Given the description of an element on the screen output the (x, y) to click on. 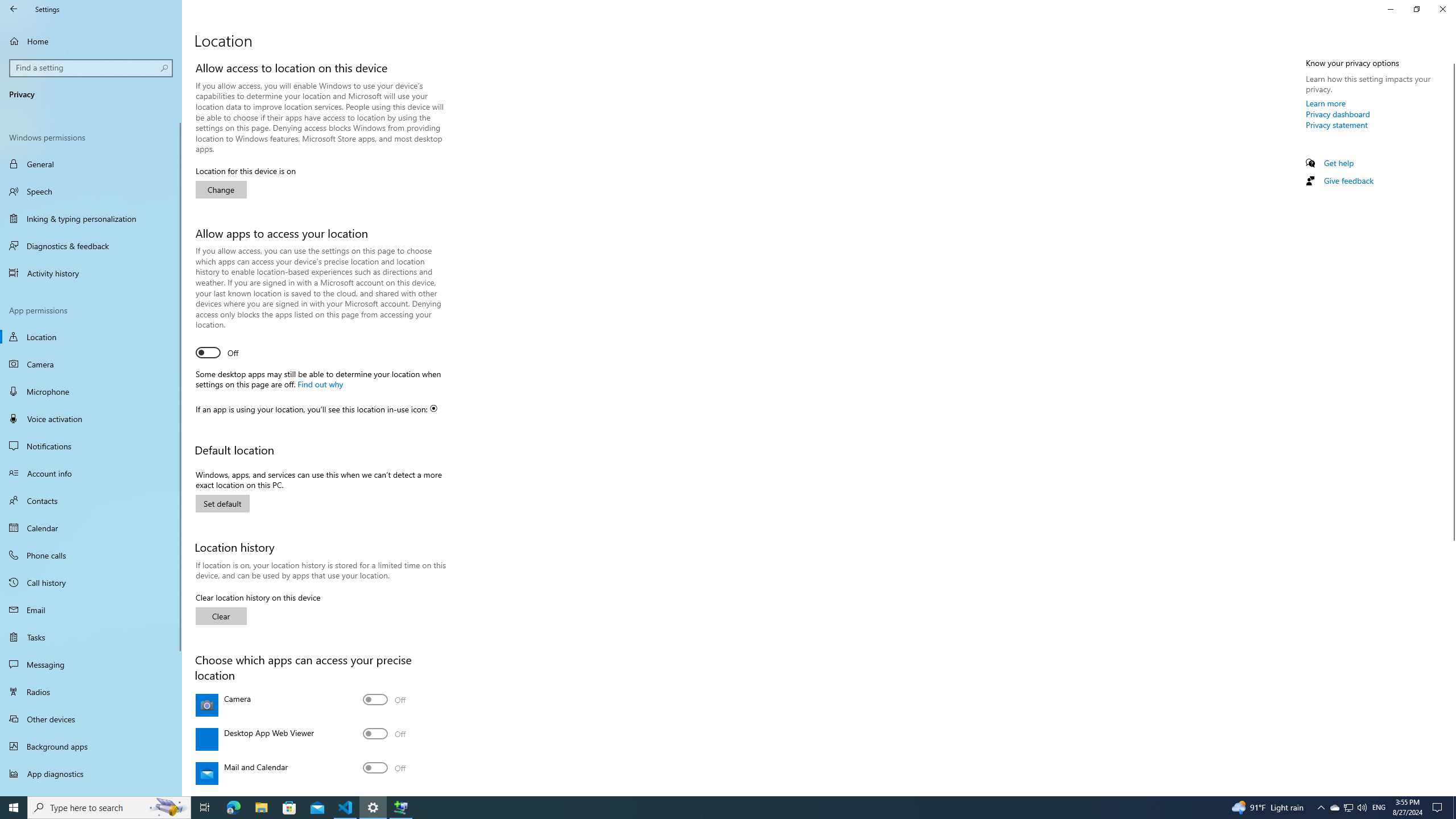
Set default (221, 503)
Privacy dashboard (1338, 113)
Background apps (91, 746)
Call history (91, 582)
Search box, Find a setting (91, 67)
Tasks (91, 636)
Running applications (706, 807)
